Given the description of an element on the screen output the (x, y) to click on. 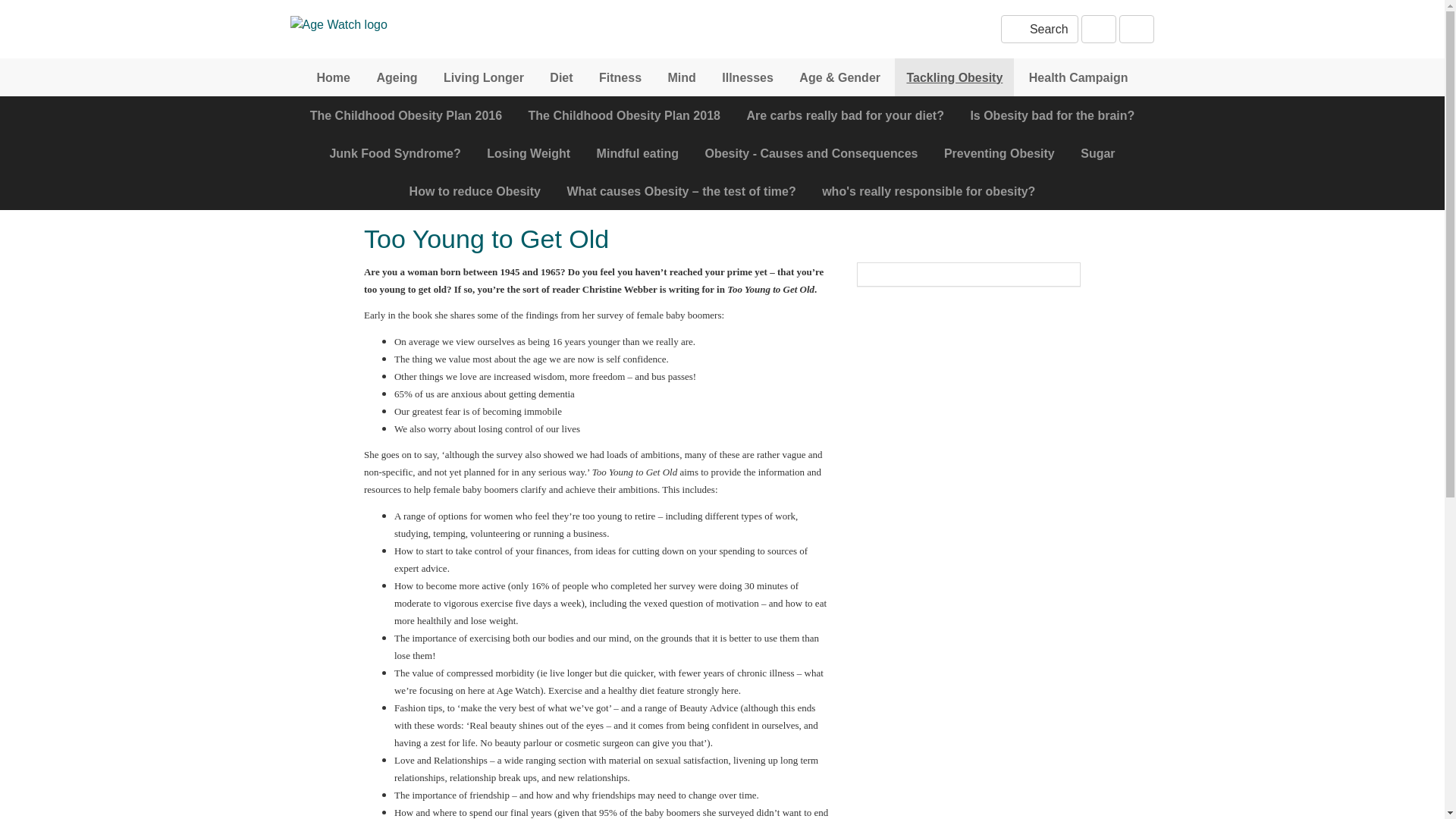
Mind (681, 77)
Search (1039, 29)
Fitness (620, 77)
Living Longer (483, 77)
Ageing (396, 77)
Tackling Obesity (954, 77)
Diet (560, 77)
Illnesses (747, 77)
Home (333, 77)
Health Campaign (1078, 77)
